Given the description of an element on the screen output the (x, y) to click on. 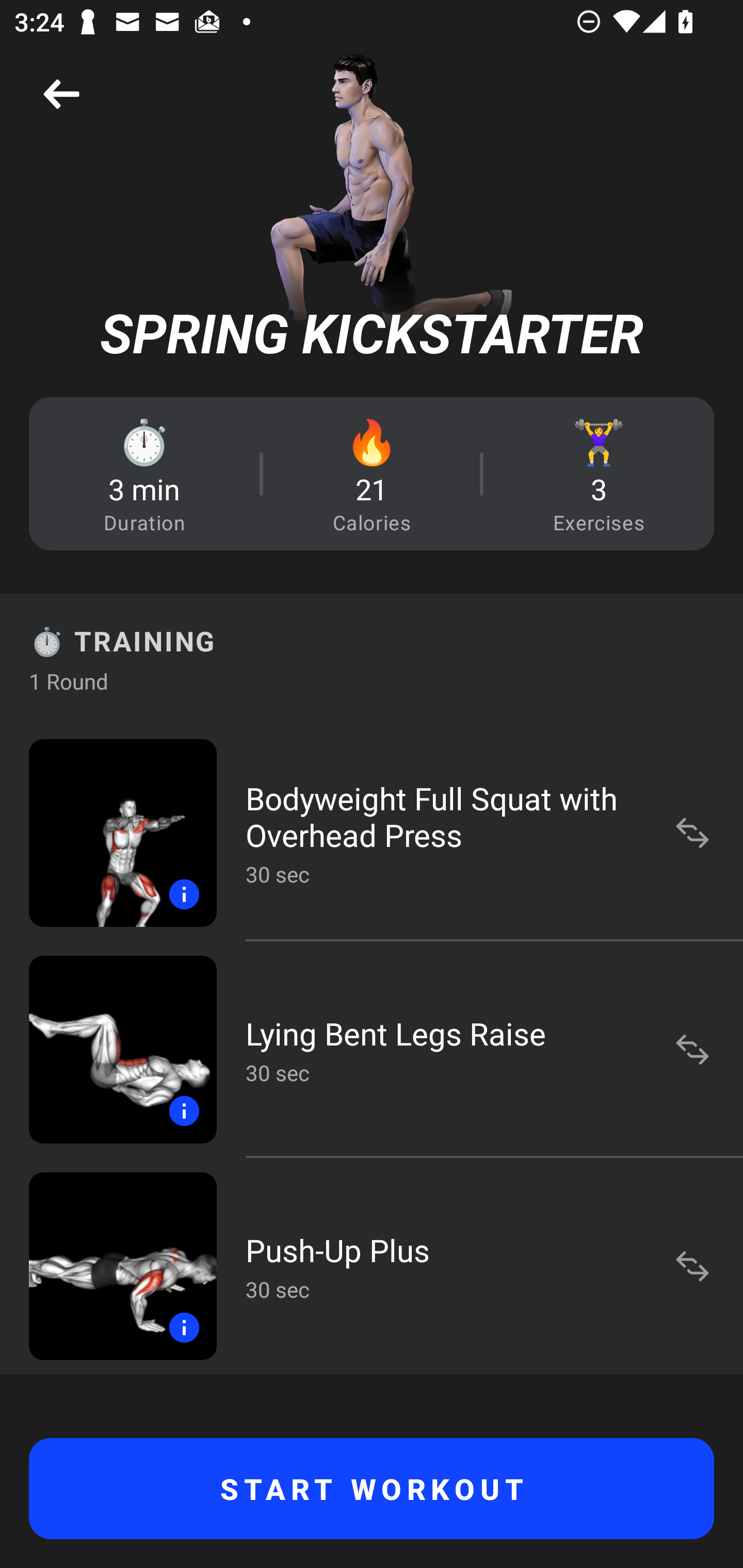
Bodyweight Full Squat with Overhead Press 30 sec (371, 832)
Lying Bent Legs Raise 30 sec (371, 1048)
Push-Up Plus 30 sec (371, 1266)
START WORKOUT (371, 1488)
